Given the description of an element on the screen output the (x, y) to click on. 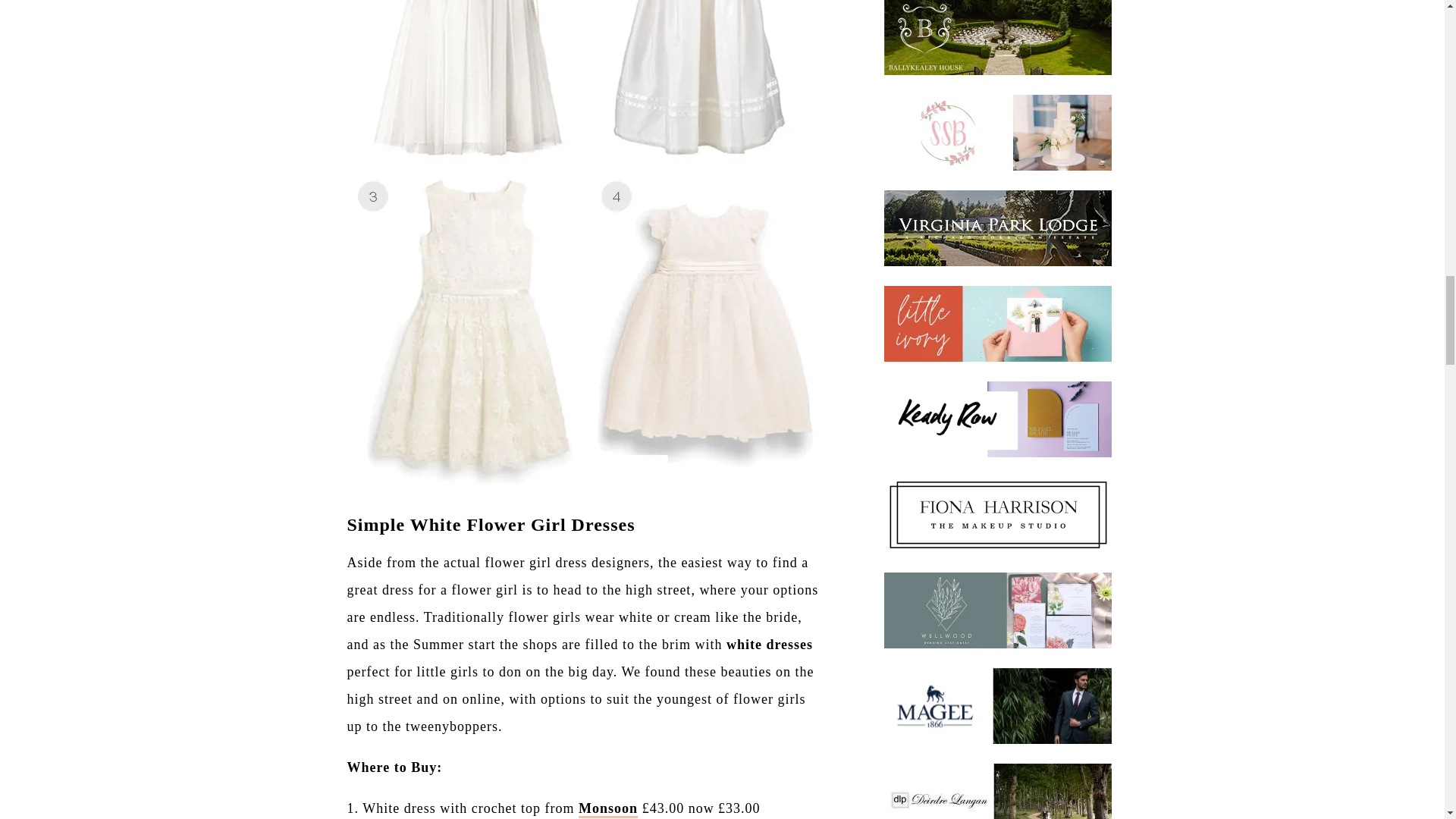
white flowergirl dress (607, 809)
